Given the description of an element on the screen output the (x, y) to click on. 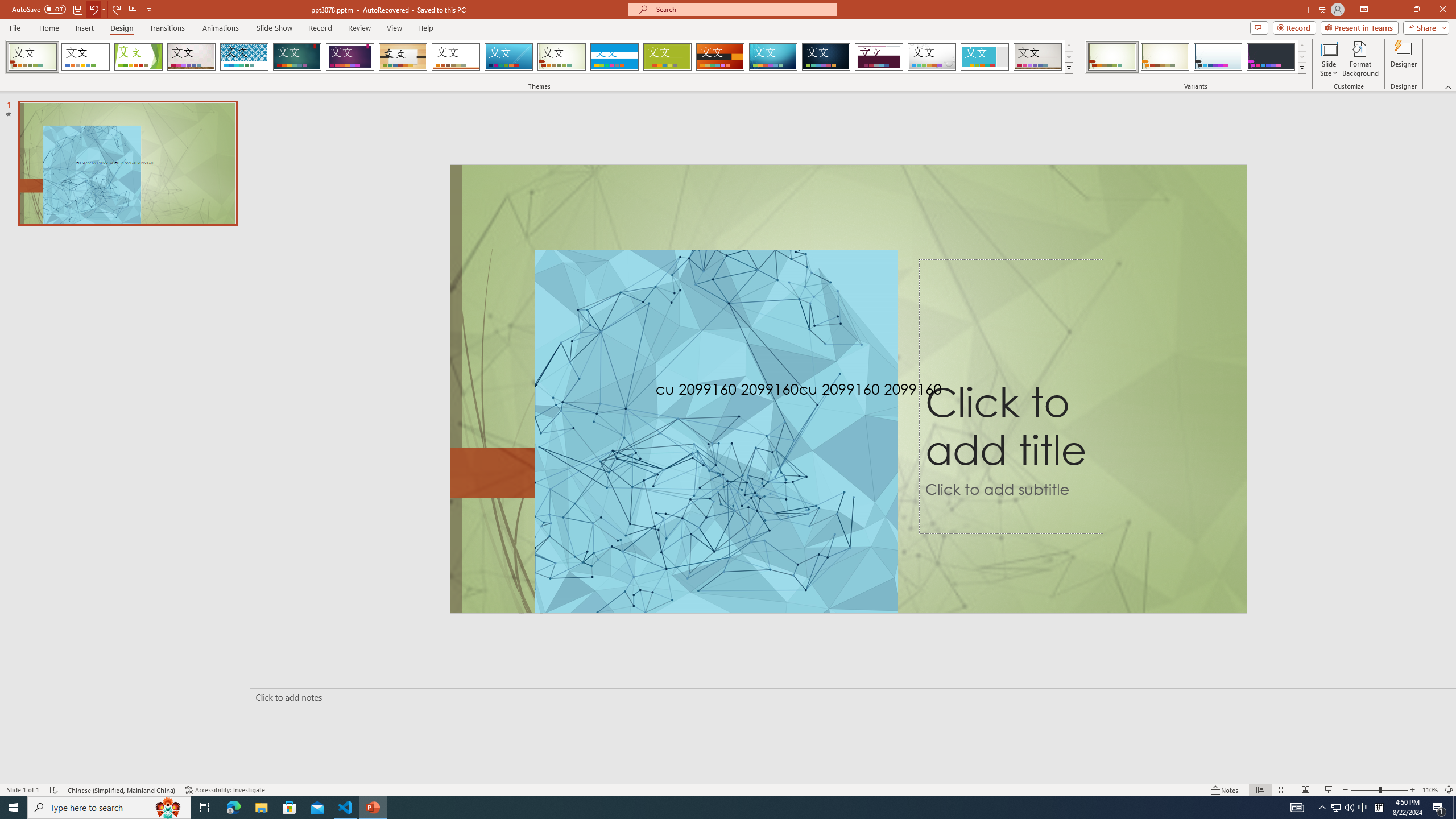
Berlin (720, 56)
Wisp Variant 2 (1164, 56)
Droplet (931, 56)
